Given the description of an element on the screen output the (x, y) to click on. 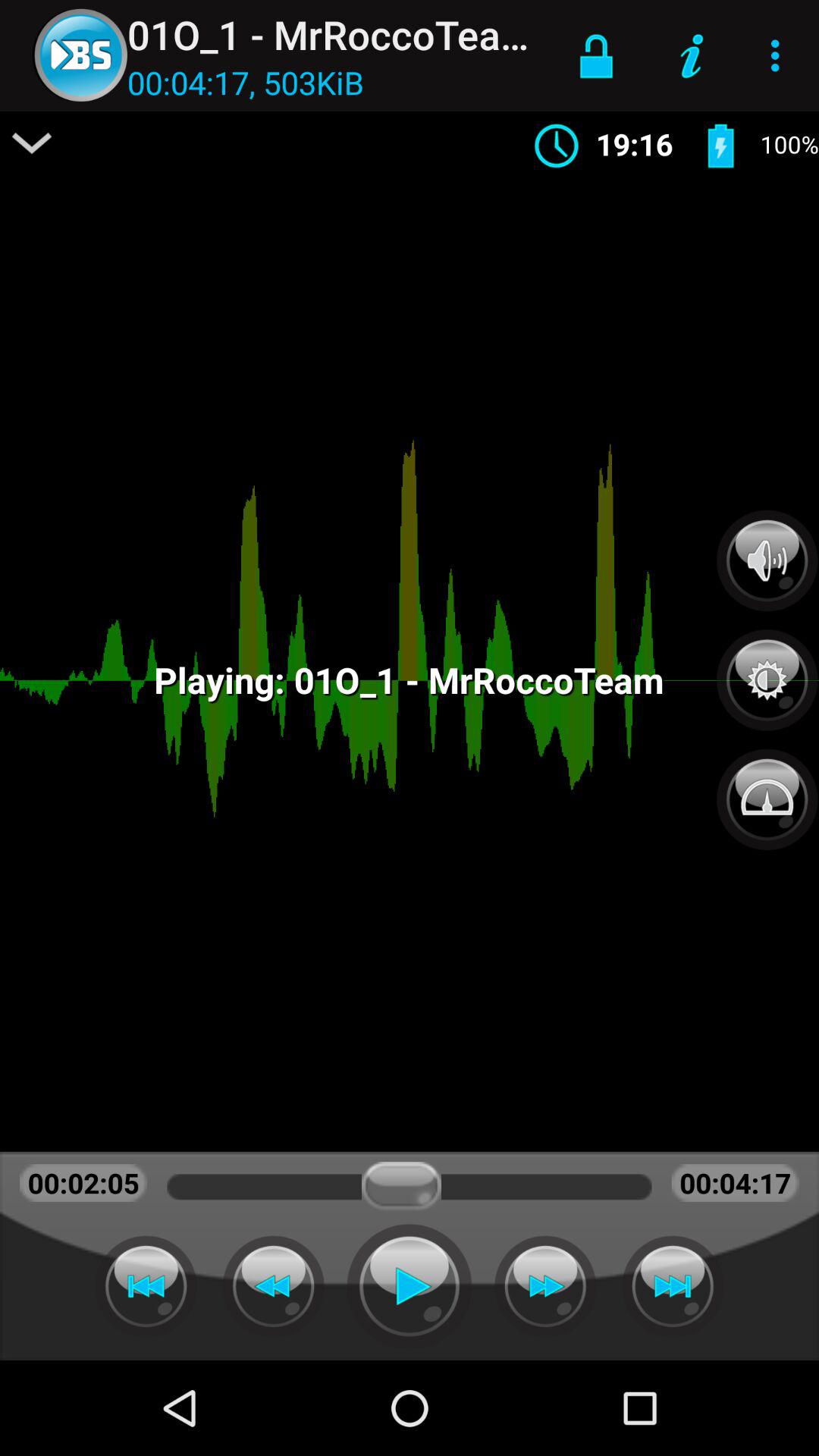
click the icon next to 01o_1 - mrroccoteam item (595, 55)
